Given the description of an element on the screen output the (x, y) to click on. 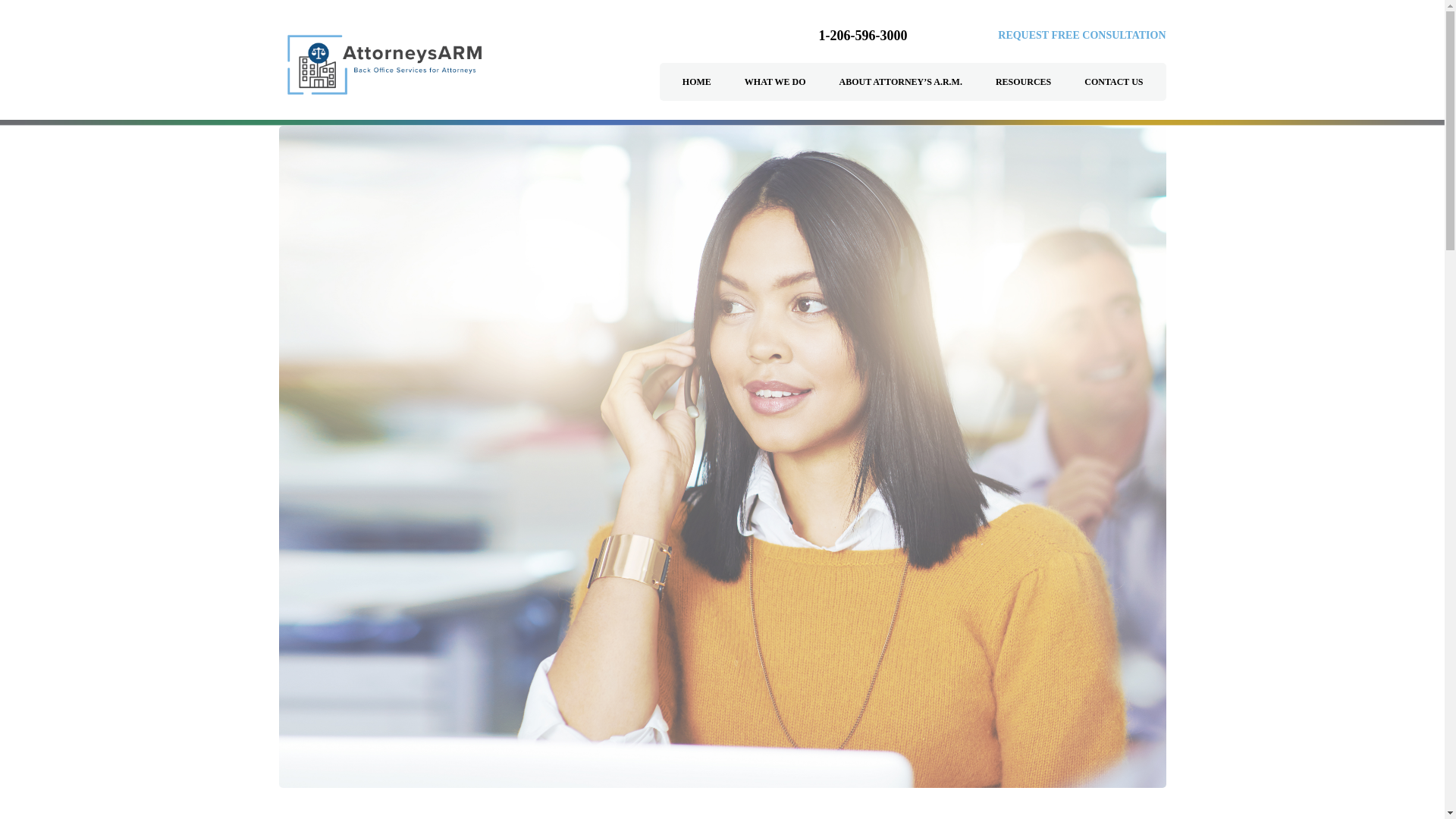
CONTACT US (1113, 81)
HOME (696, 81)
REQUEST FREE CONSULTATION (1081, 34)
Accounts Receivable Management (381, 64)
1-206-596-3000 (863, 35)
RESOURCES (1023, 81)
WHAT WE DO (775, 81)
